Given the description of an element on the screen output the (x, y) to click on. 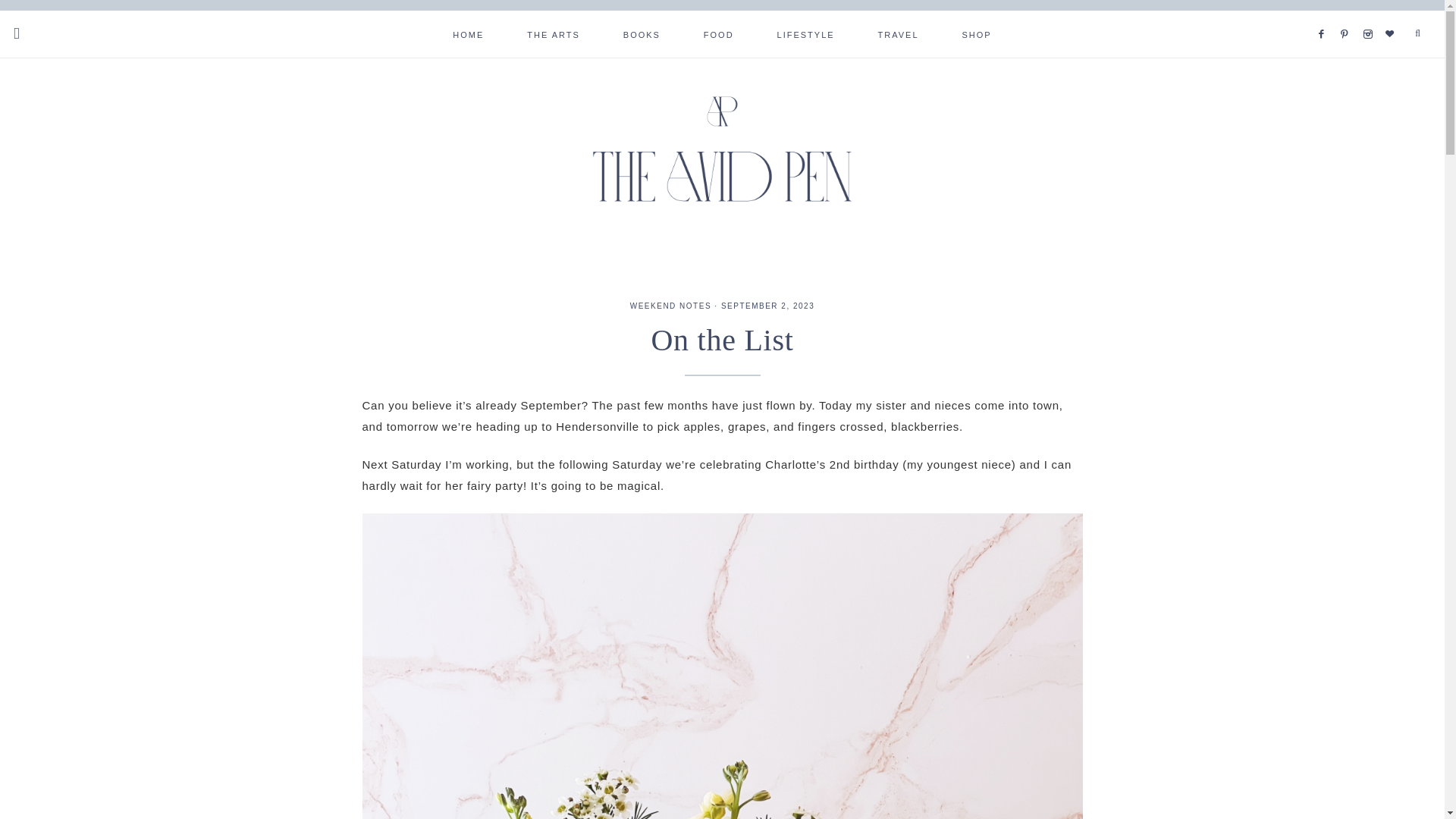
BOOKS (641, 33)
TRAVEL (899, 33)
THE ARTS (552, 33)
LIFESTYLE (805, 33)
FOOD (719, 33)
Pinterest (1347, 14)
Bloglovin (1393, 14)
Instagram (1370, 14)
HOME (467, 33)
Facebook (1324, 14)
